Given the description of an element on the screen output the (x, y) to click on. 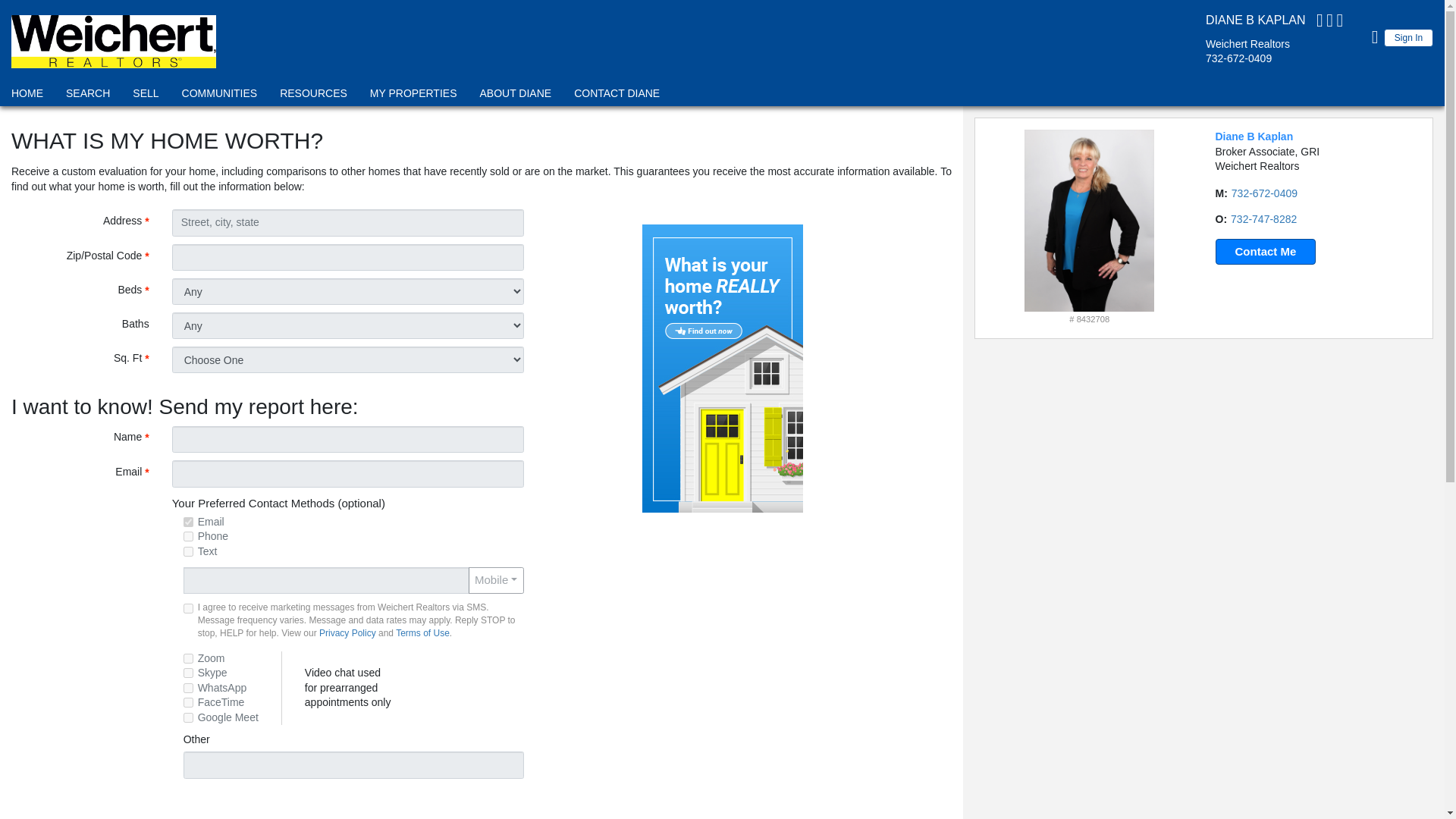
Zoom (188, 658)
MY PROPERTIES (413, 95)
Email (188, 521)
732-672-0409 (1264, 193)
Skype (188, 673)
Mobile (496, 580)
WhatsApp (188, 687)
Phone (188, 536)
CONTACT DIANE (616, 95)
Contact Me (1265, 251)
